Given the description of an element on the screen output the (x, y) to click on. 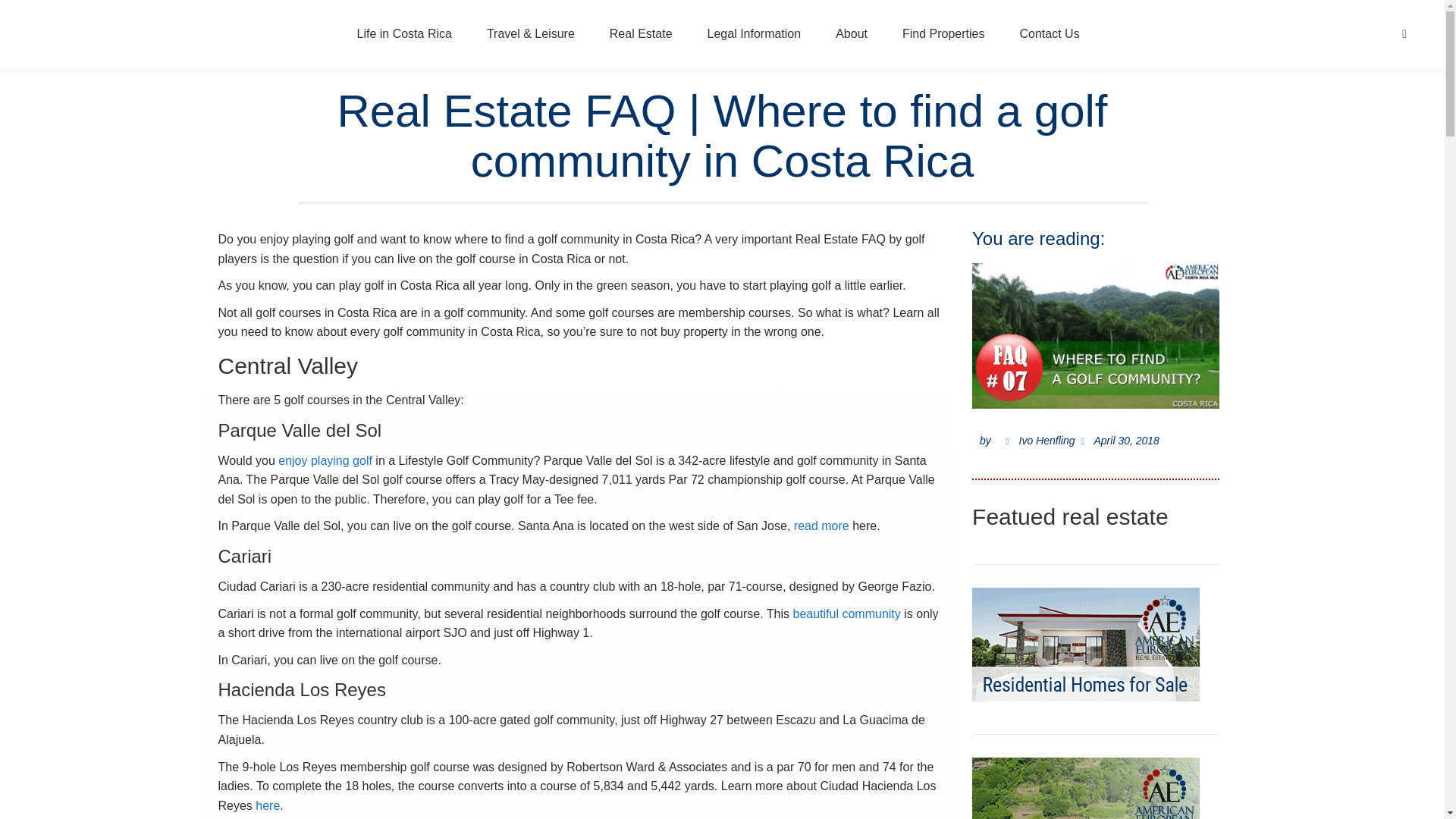
About (851, 33)
Costa Rica real estate topics (640, 33)
Life in Costa Rica (404, 33)
Legal Information (753, 33)
Costa Rica Legal (753, 33)
Real Estate (640, 33)
Contact Us (1049, 33)
Find Properties (943, 33)
